Given the description of an element on the screen output the (x, y) to click on. 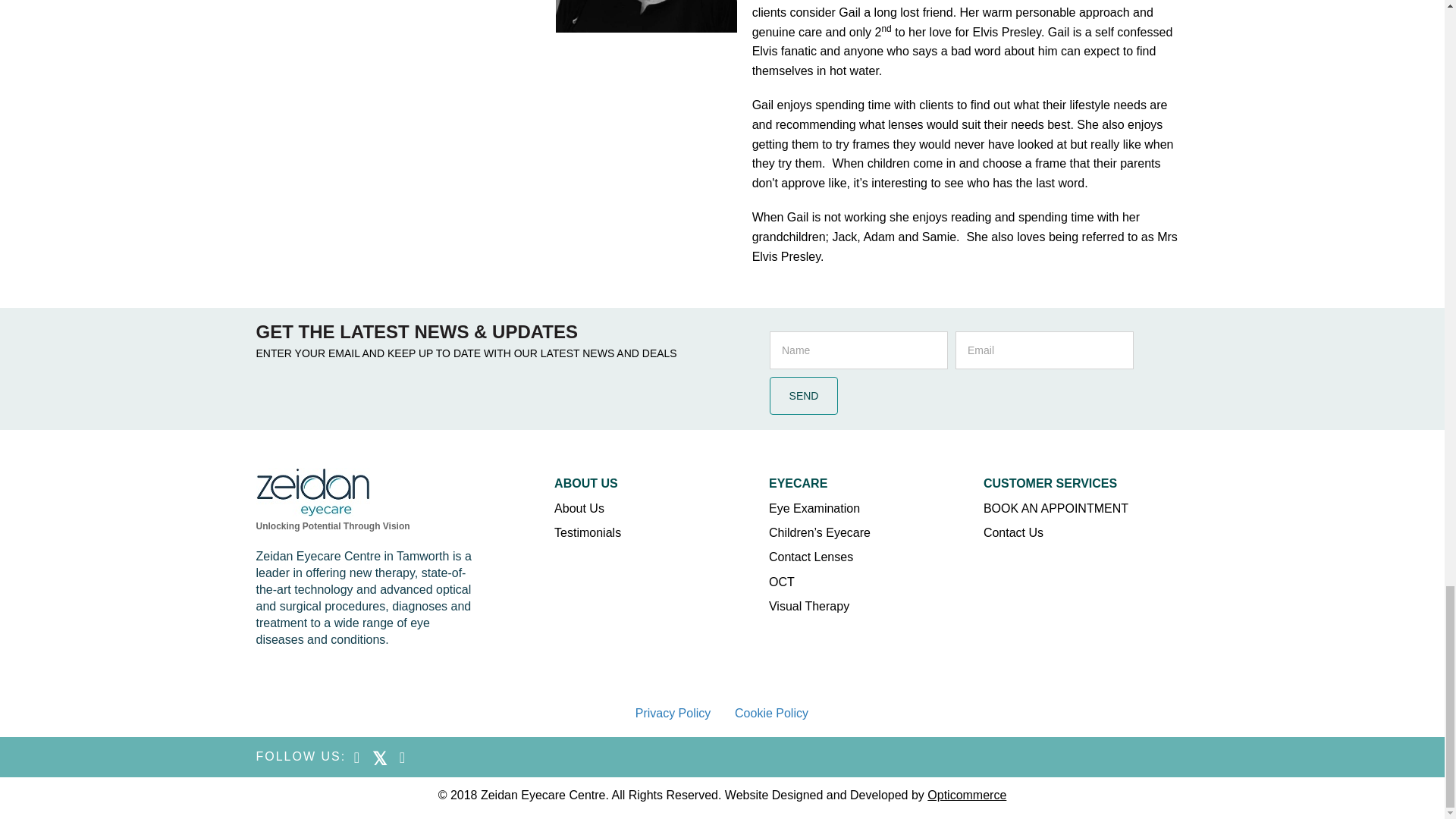
Visual Therapy (876, 610)
Privacy Policy (672, 712)
SEND (804, 395)
Testimonials (661, 536)
Contact Lenses (876, 560)
About Us (661, 512)
OCT (876, 586)
YouTube (401, 757)
Eye Examination (876, 512)
Twitter (379, 757)
Facebook (356, 757)
Cookie Policy (771, 712)
SEND (804, 395)
